Given the description of an element on the screen output the (x, y) to click on. 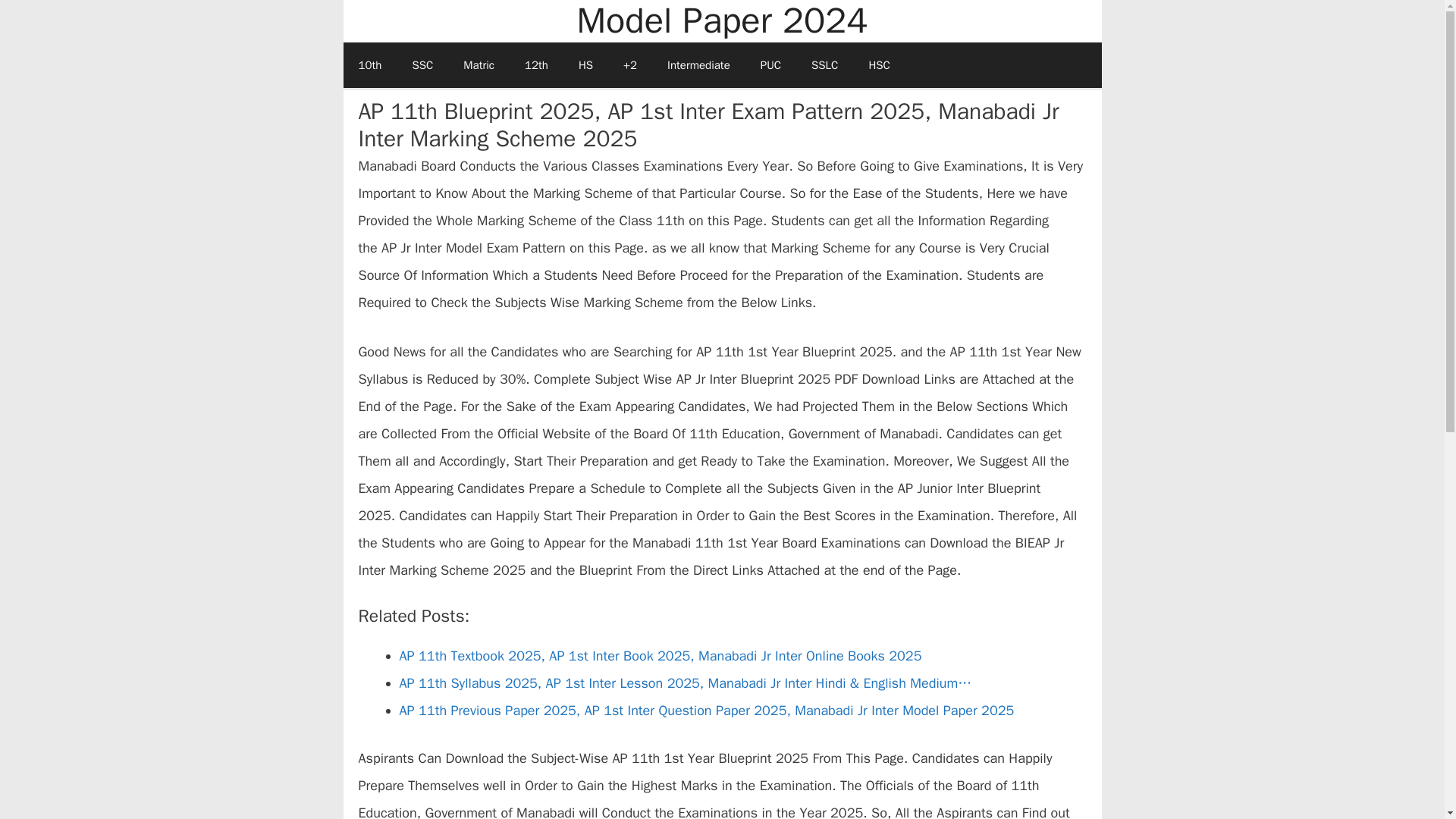
10th (369, 64)
SSC (422, 64)
12th (536, 64)
HS (585, 64)
Model Paper 2024 (721, 21)
Matric (478, 64)
SSLC (824, 64)
HSC (878, 64)
PUC (770, 64)
Intermediate (698, 64)
